Given the description of an element on the screen output the (x, y) to click on. 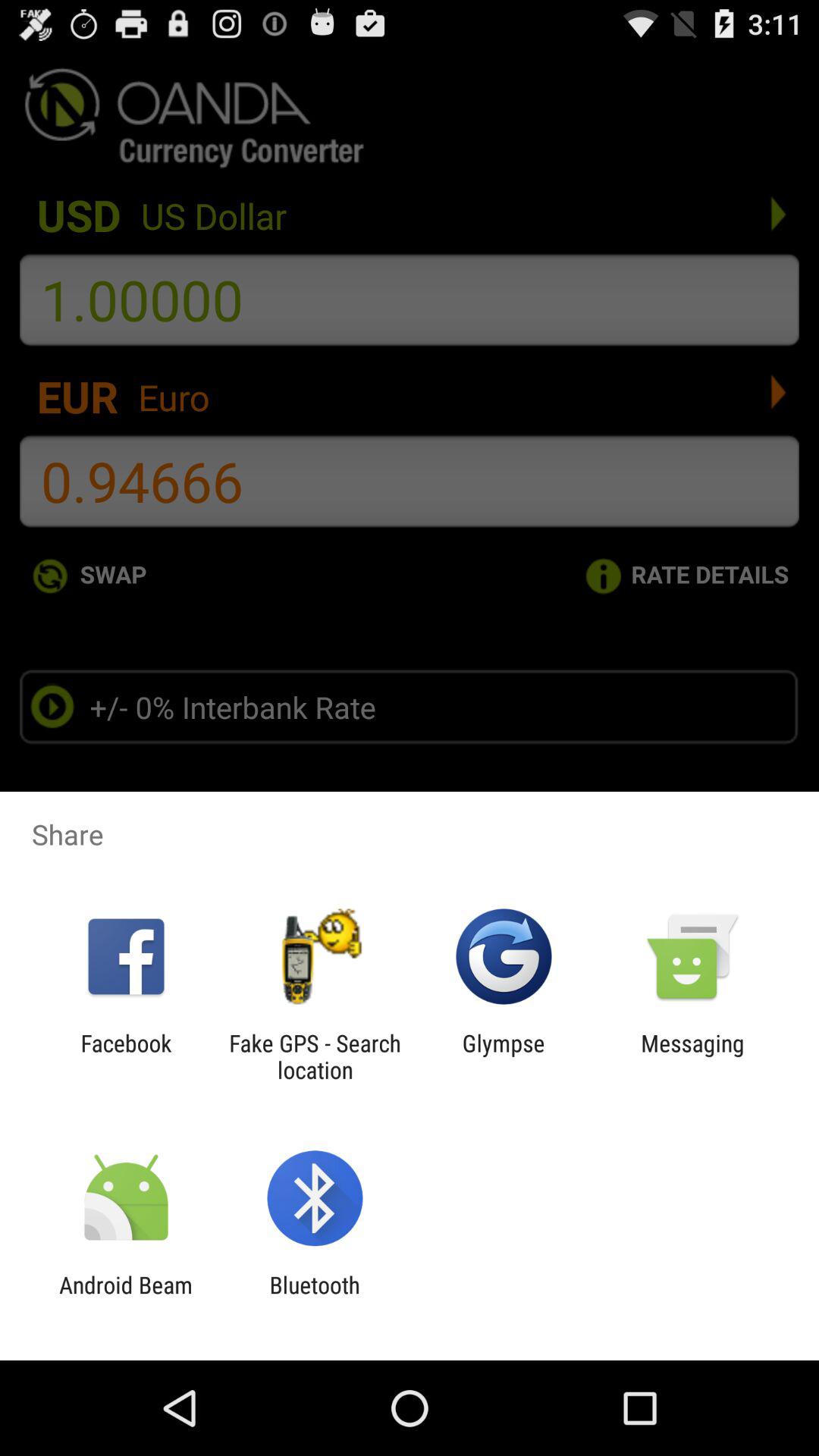
swipe to fake gps search item (314, 1056)
